Given the description of an element on the screen output the (x, y) to click on. 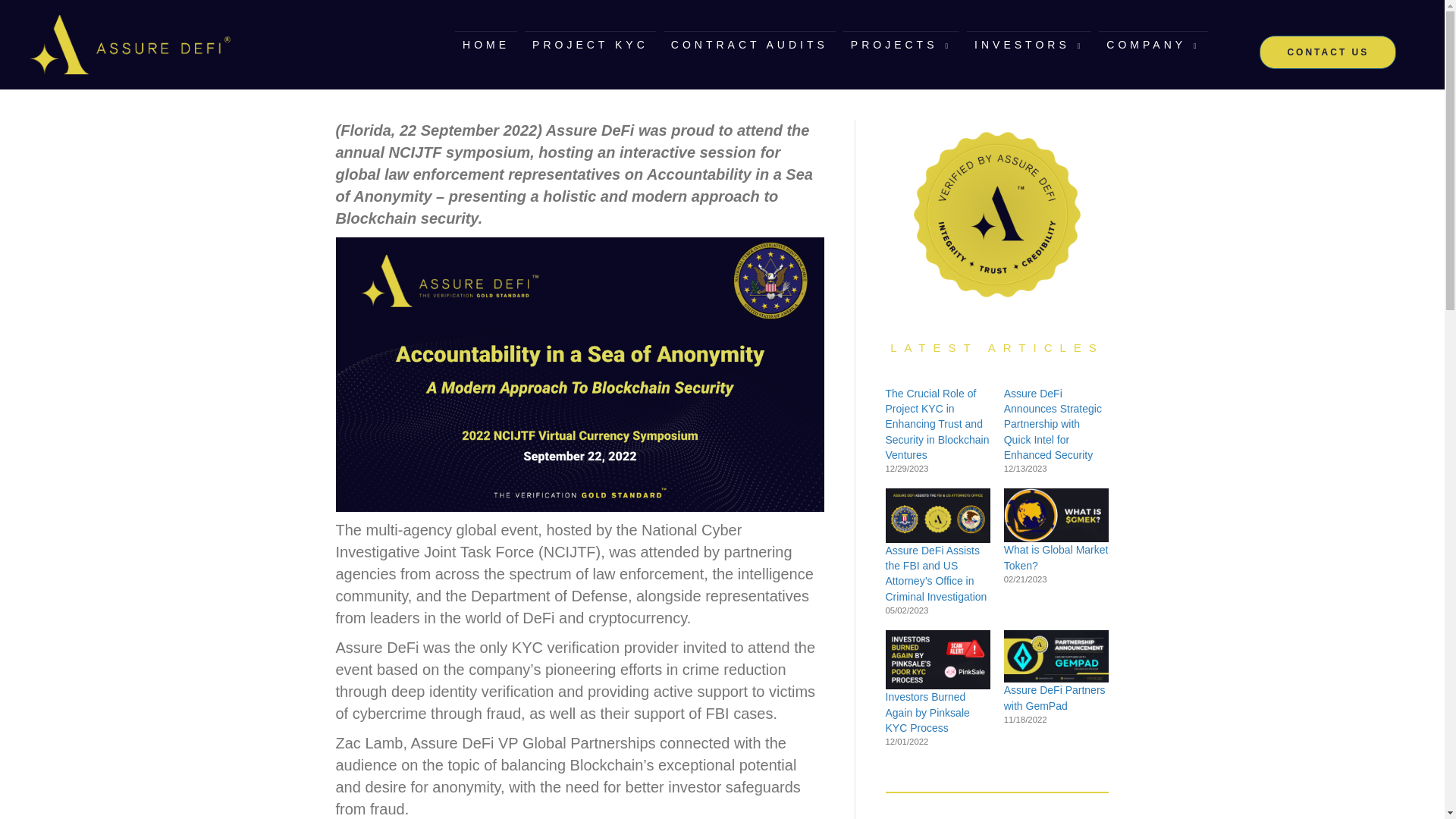
gold (130, 44)
CONTRACT AUDITS (749, 44)
INVESTORS (1028, 44)
COMPANY (1153, 44)
CONTACT US (1327, 52)
PROJECTS (901, 44)
HOME (485, 44)
PROJECT KYC (590, 44)
